Given the description of an element on the screen output the (x, y) to click on. 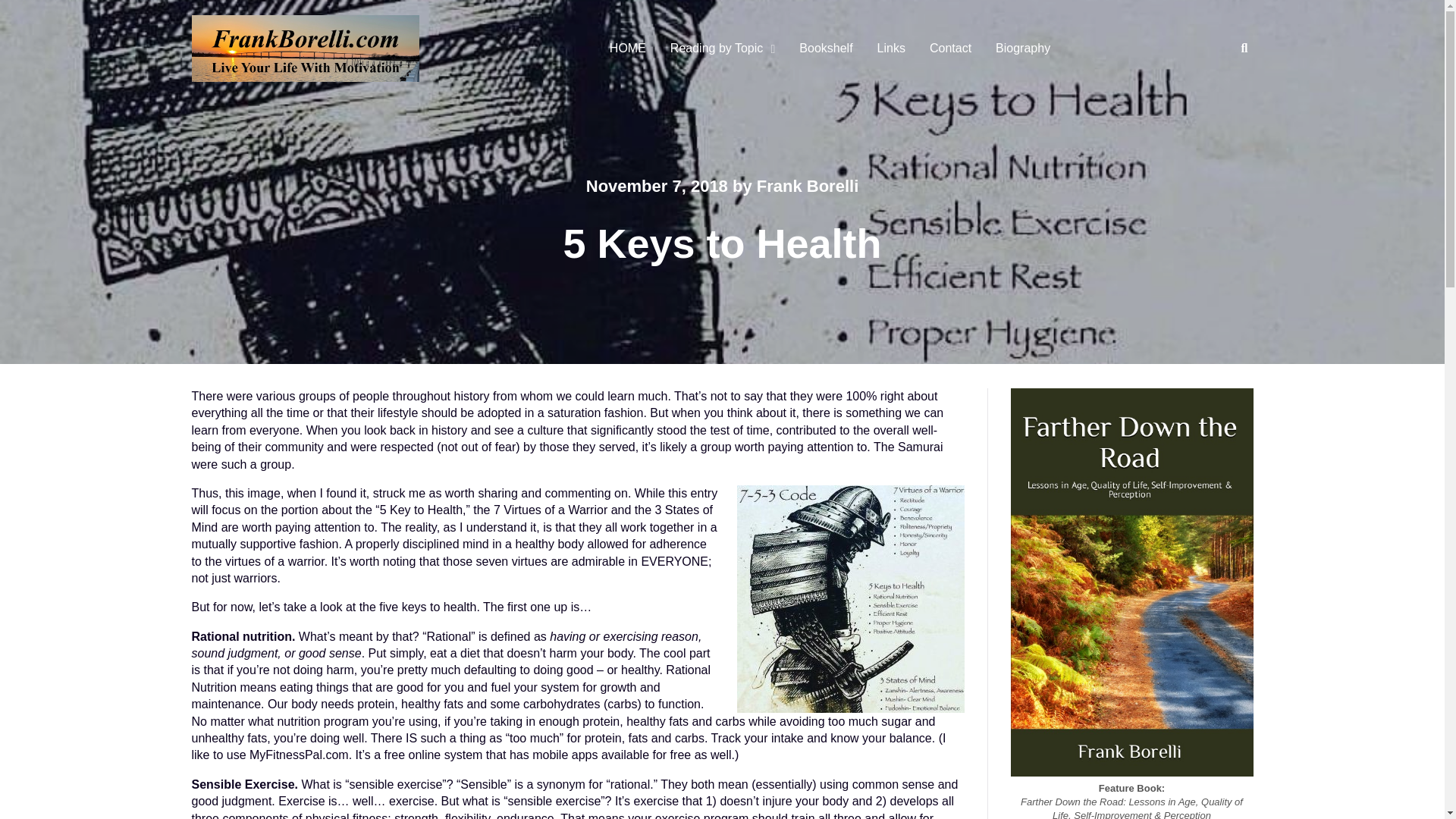
Links (890, 48)
Contact (950, 48)
Search (1229, 101)
Reading by Topic (719, 48)
HOME (627, 48)
Links (890, 48)
Biography (1023, 48)
Bookshelf (825, 48)
